Given the description of an element on the screen output the (x, y) to click on. 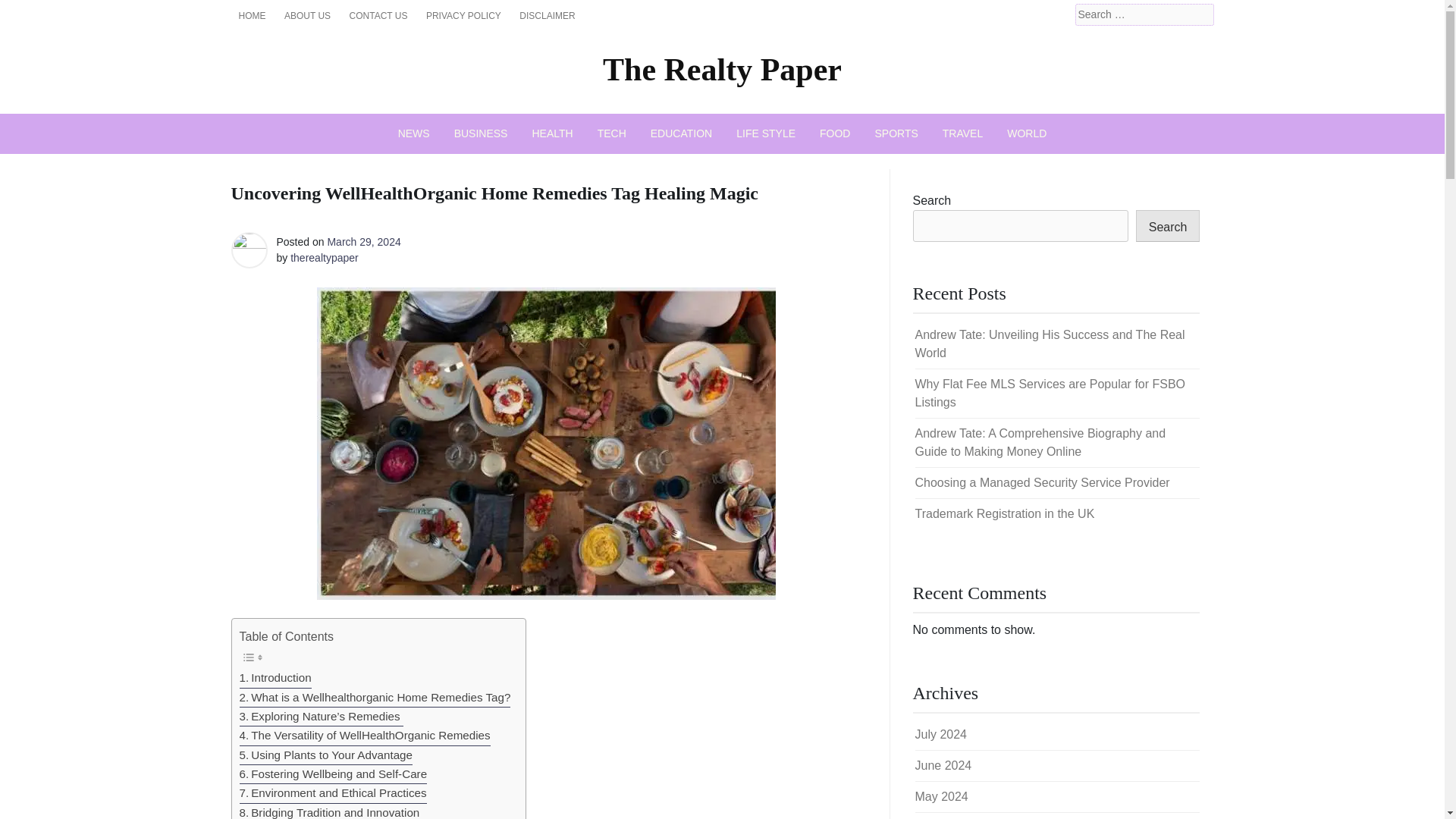
PRIVACY POLICY (463, 15)
Fostering Wellbeing and Self-Care (334, 773)
NEWS (413, 133)
The Realty Paper (721, 69)
HEALTH (552, 133)
The Versatility of WellHealthOrganic Remedies (365, 735)
EDUCATION (681, 133)
DISCLAIMER (547, 15)
Search (32, 12)
March 29, 2024 (363, 241)
ABOUT US (306, 15)
Bridging Tradition and Innovation (330, 811)
BUSINESS (480, 133)
Using Plants to Your Advantage (326, 755)
LIFE STYLE (765, 133)
